Given the description of an element on the screen output the (x, y) to click on. 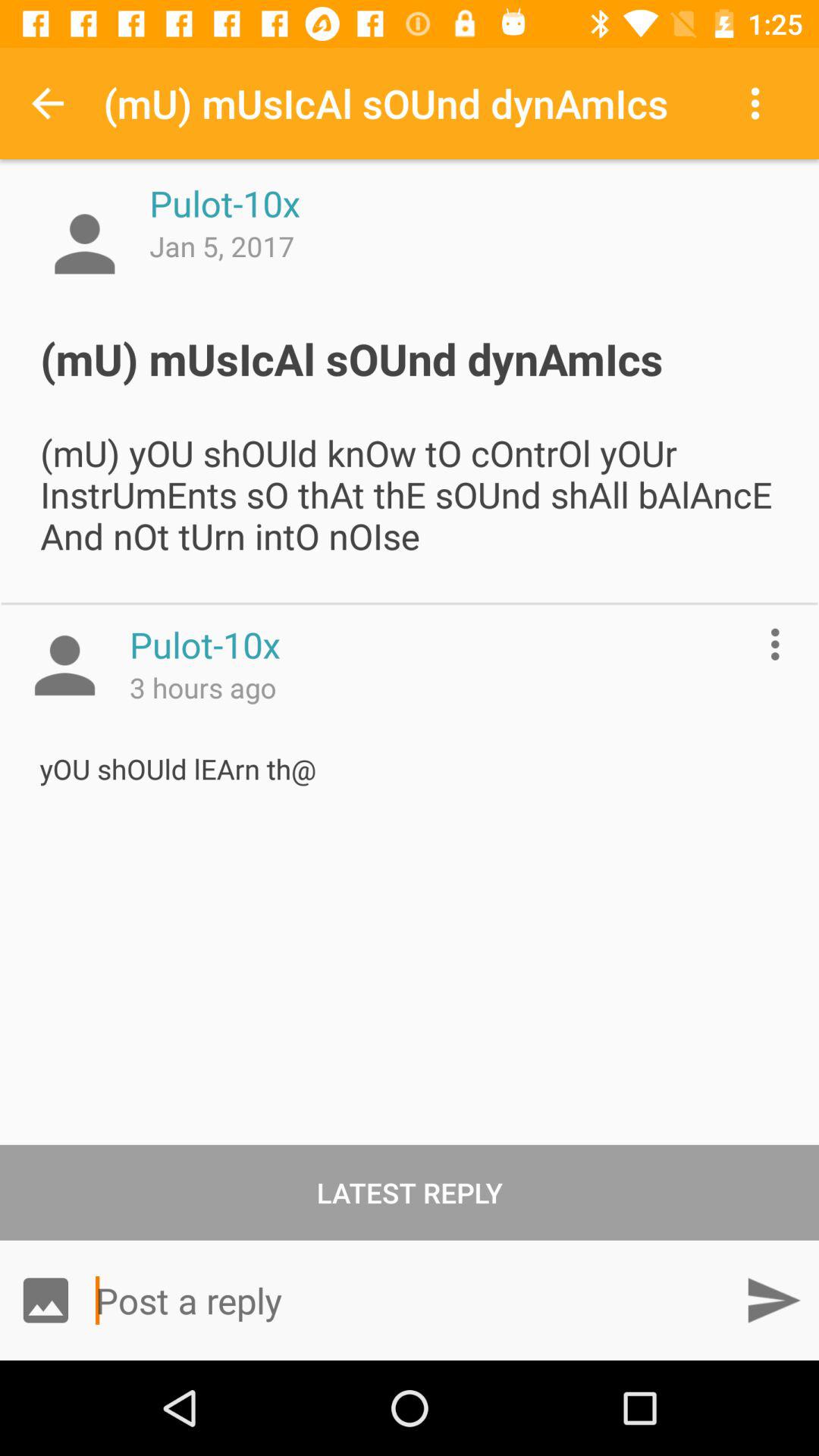
launch icon below latest reply icon (773, 1300)
